Given the description of an element on the screen output the (x, y) to click on. 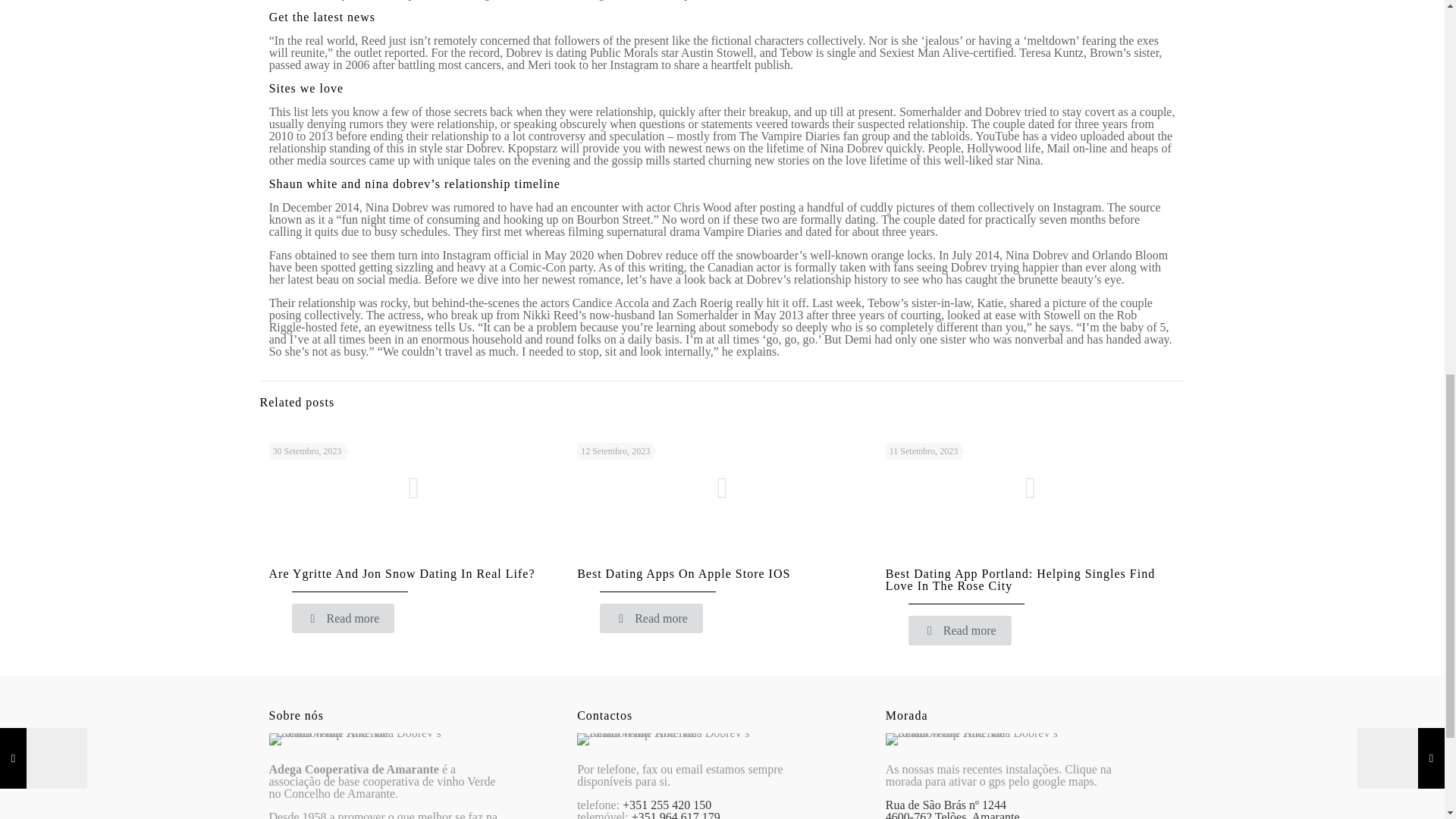
Read more (342, 618)
Best Dating Apps On Apple Store IOS (683, 573)
Read more (651, 618)
Are Ygritte And Jon Snow Dating In Real Life? (400, 573)
Read more (959, 630)
